Given the description of an element on the screen output the (x, y) to click on. 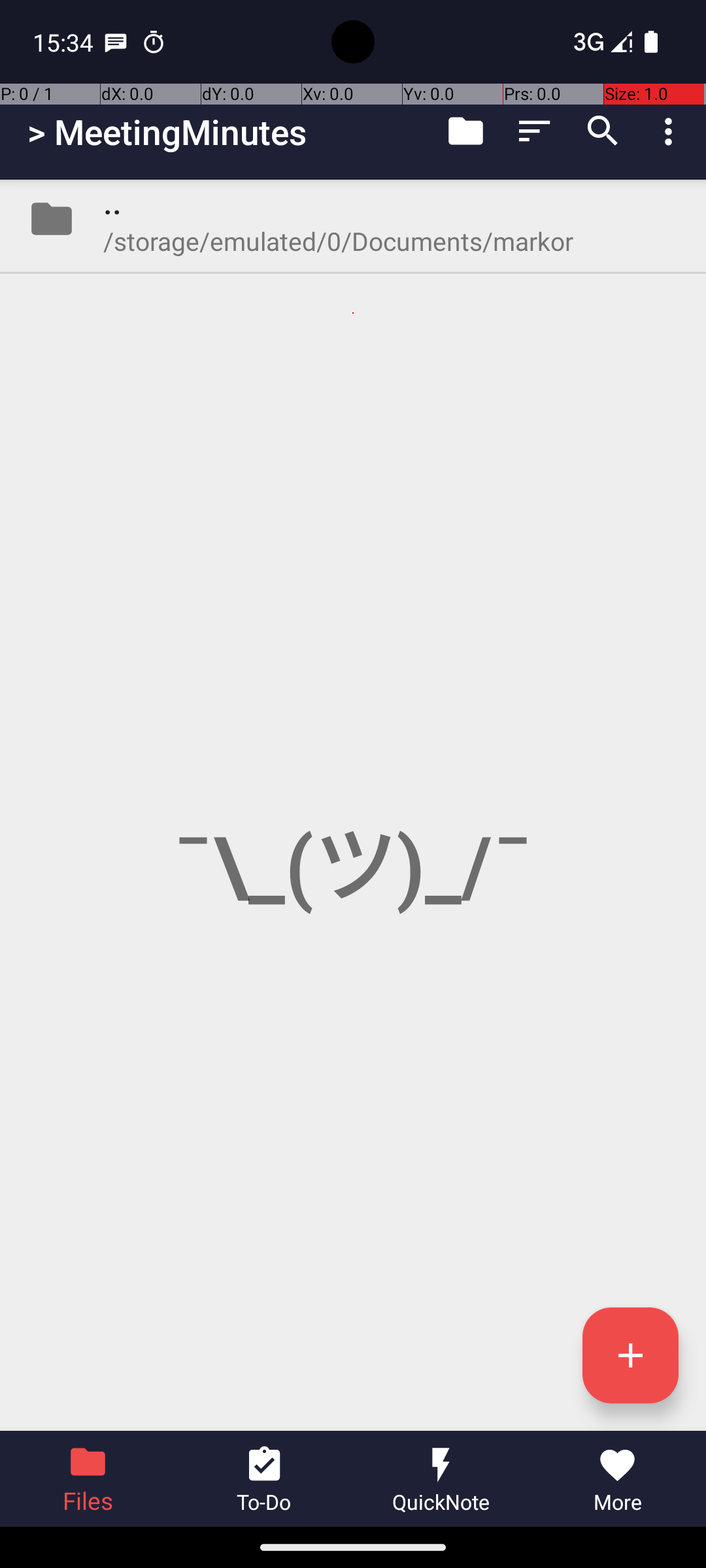
> MeetingMinutes Element type: android.widget.TextView (166, 131)
